Given the description of an element on the screen output the (x, y) to click on. 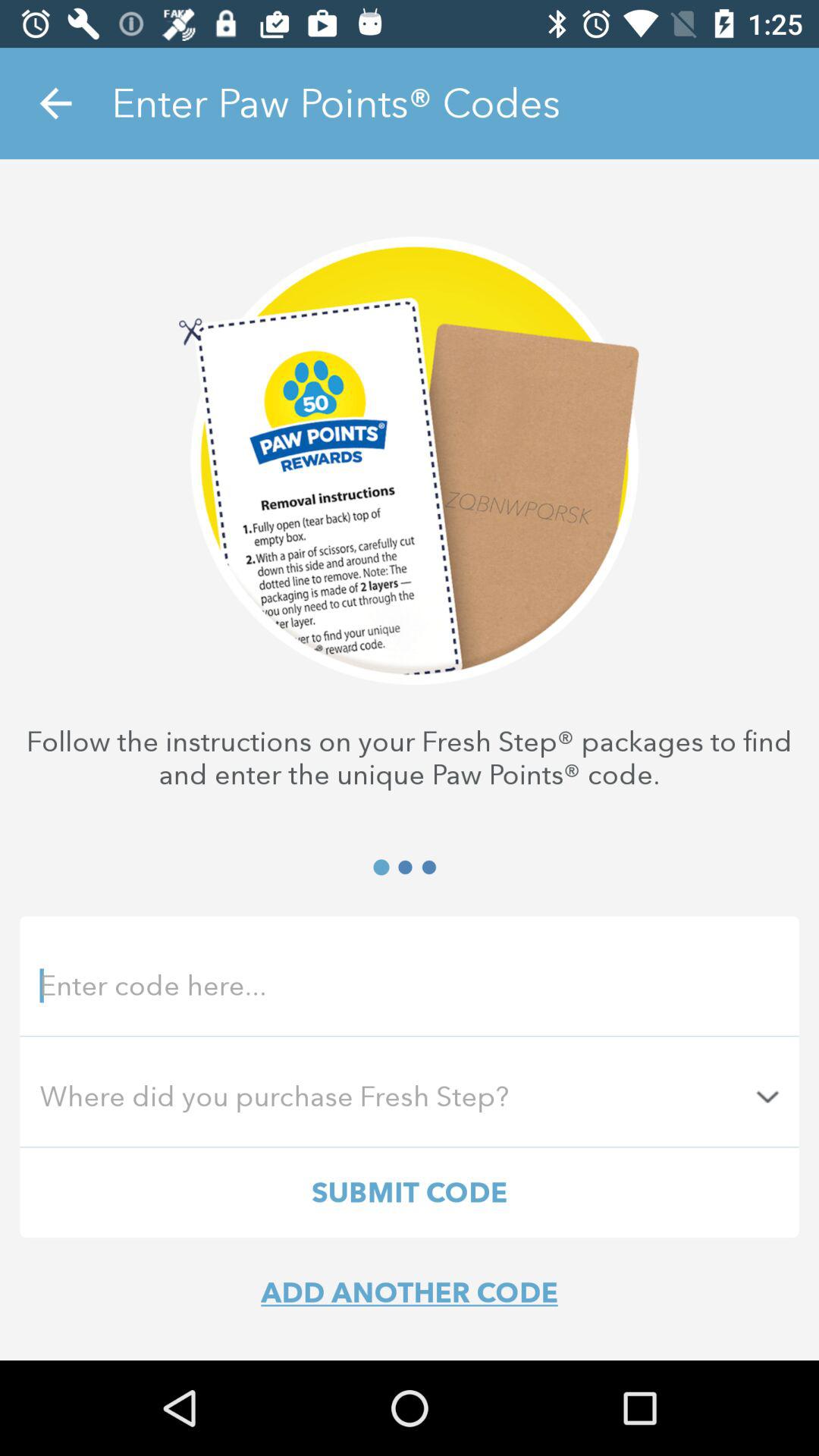
turn on the item at the top left corner (55, 103)
